Given the description of an element on the screen output the (x, y) to click on. 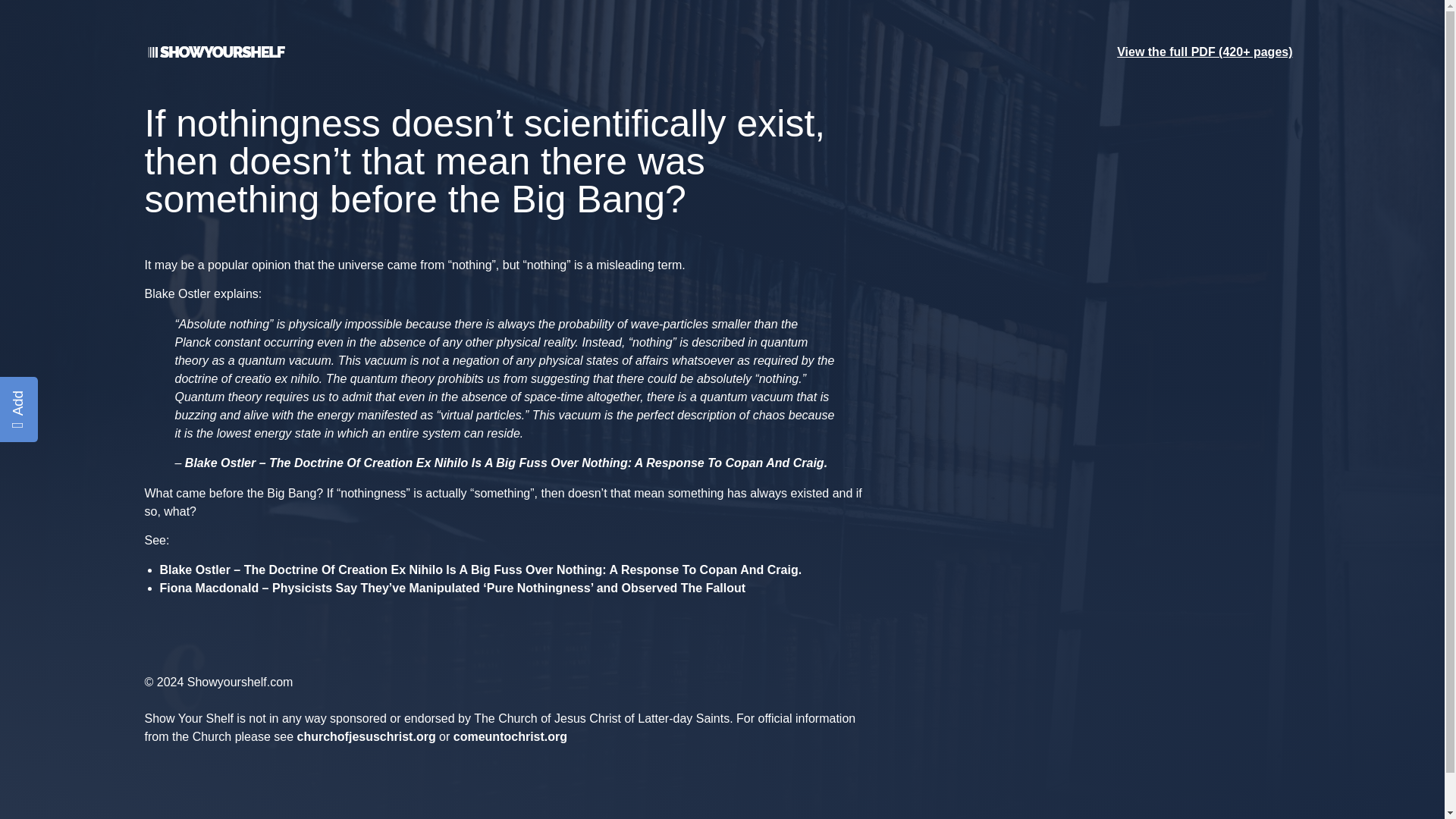
churchofjesuschrist.org (366, 736)
Home (213, 54)
comeuntochrist.org (509, 736)
